Given the description of an element on the screen output the (x, y) to click on. 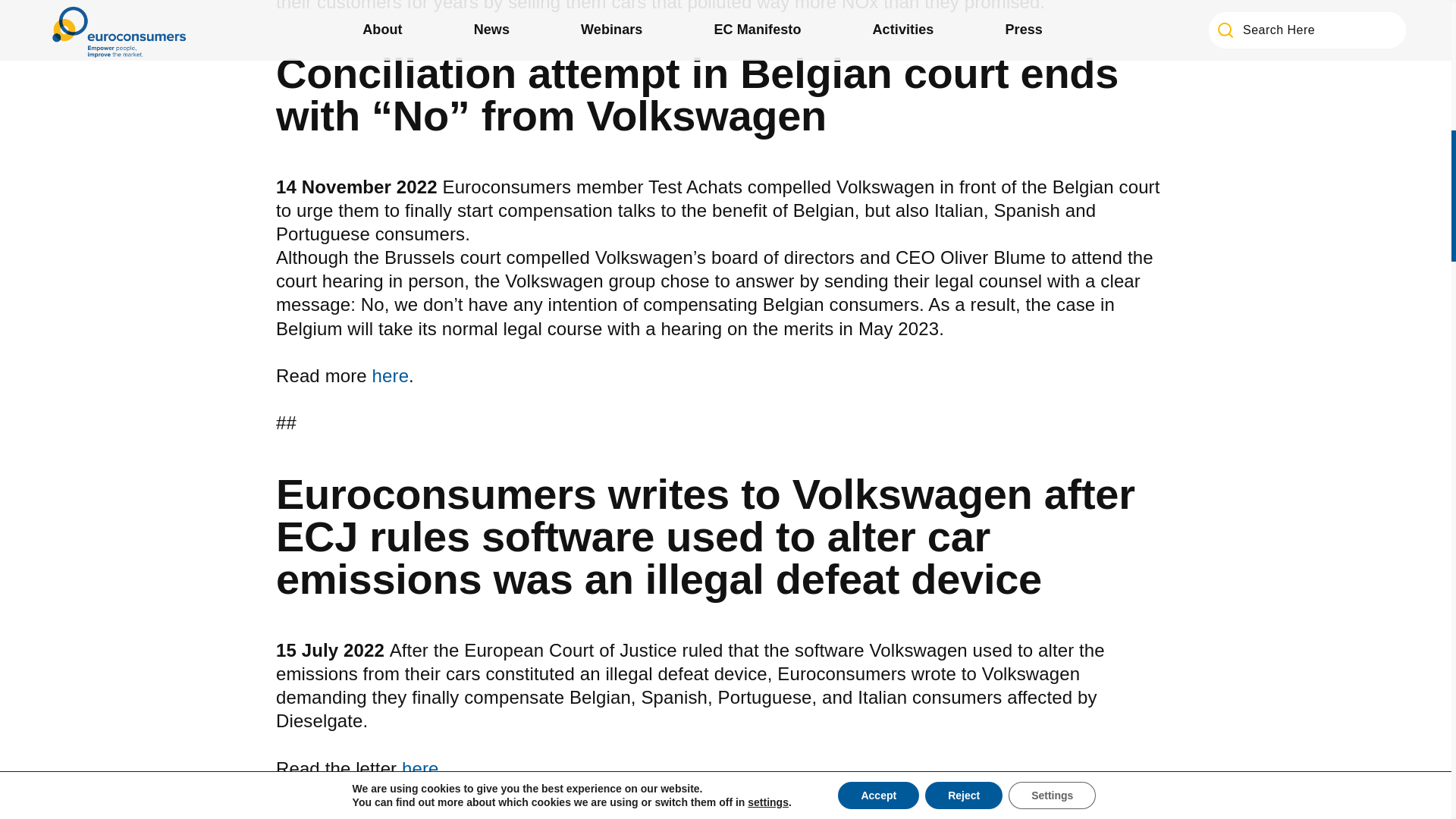
here (390, 375)
here (420, 768)
